Given the description of an element on the screen output the (x, y) to click on. 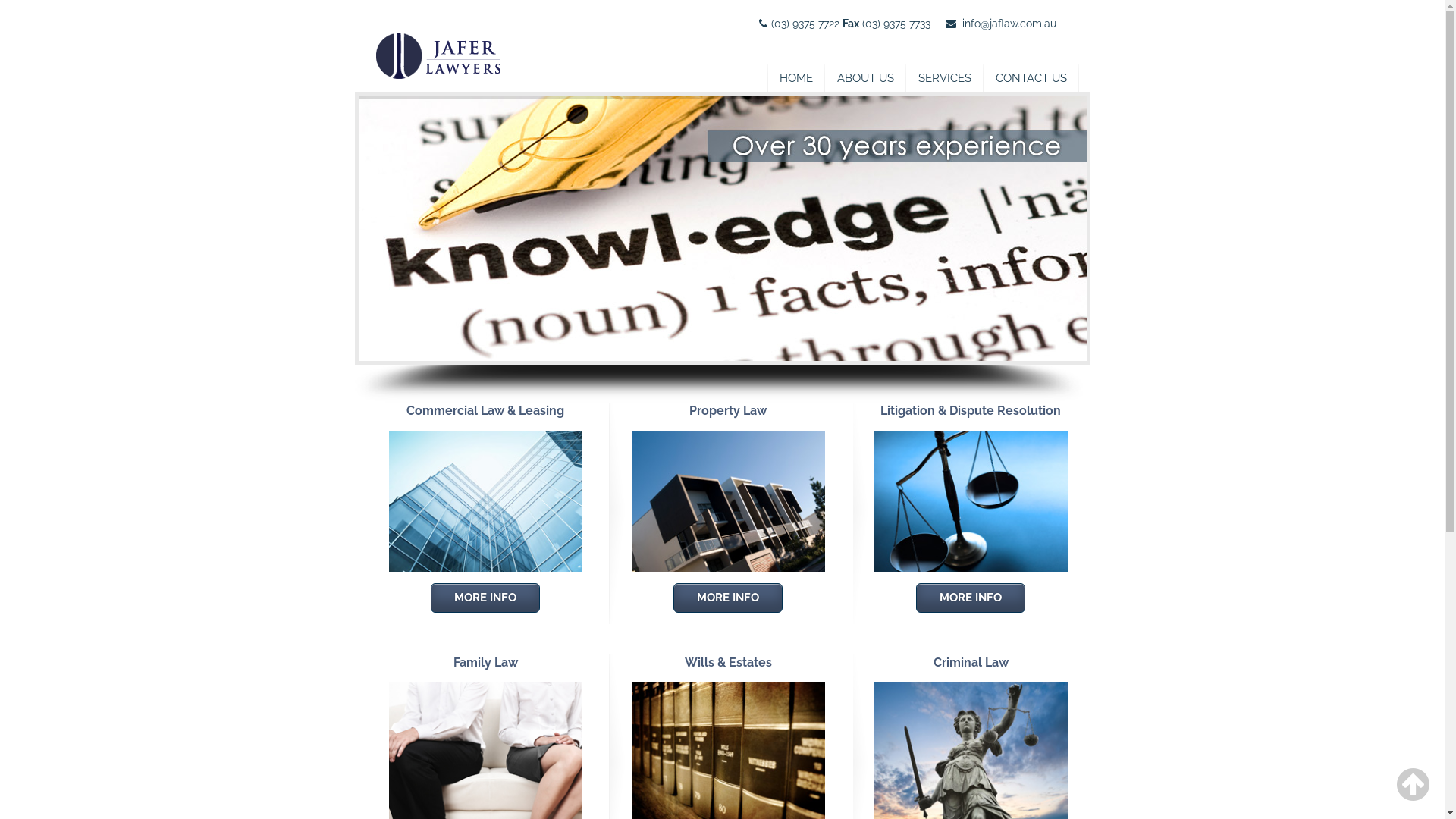
MORE INFO Element type: text (484, 597)
ABOUT US Element type: text (865, 77)
MORE INFO Element type: text (727, 597)
HOME Element type: text (796, 77)
info@jaflaw.com.au Element type: text (1008, 23)
SERVICES Element type: text (943, 77)
Jafer Lawyers Element type: hover (444, 44)
CONTACT US Element type: text (1030, 77)
MORE INFO Element type: text (970, 597)
